Given the description of an element on the screen output the (x, y) to click on. 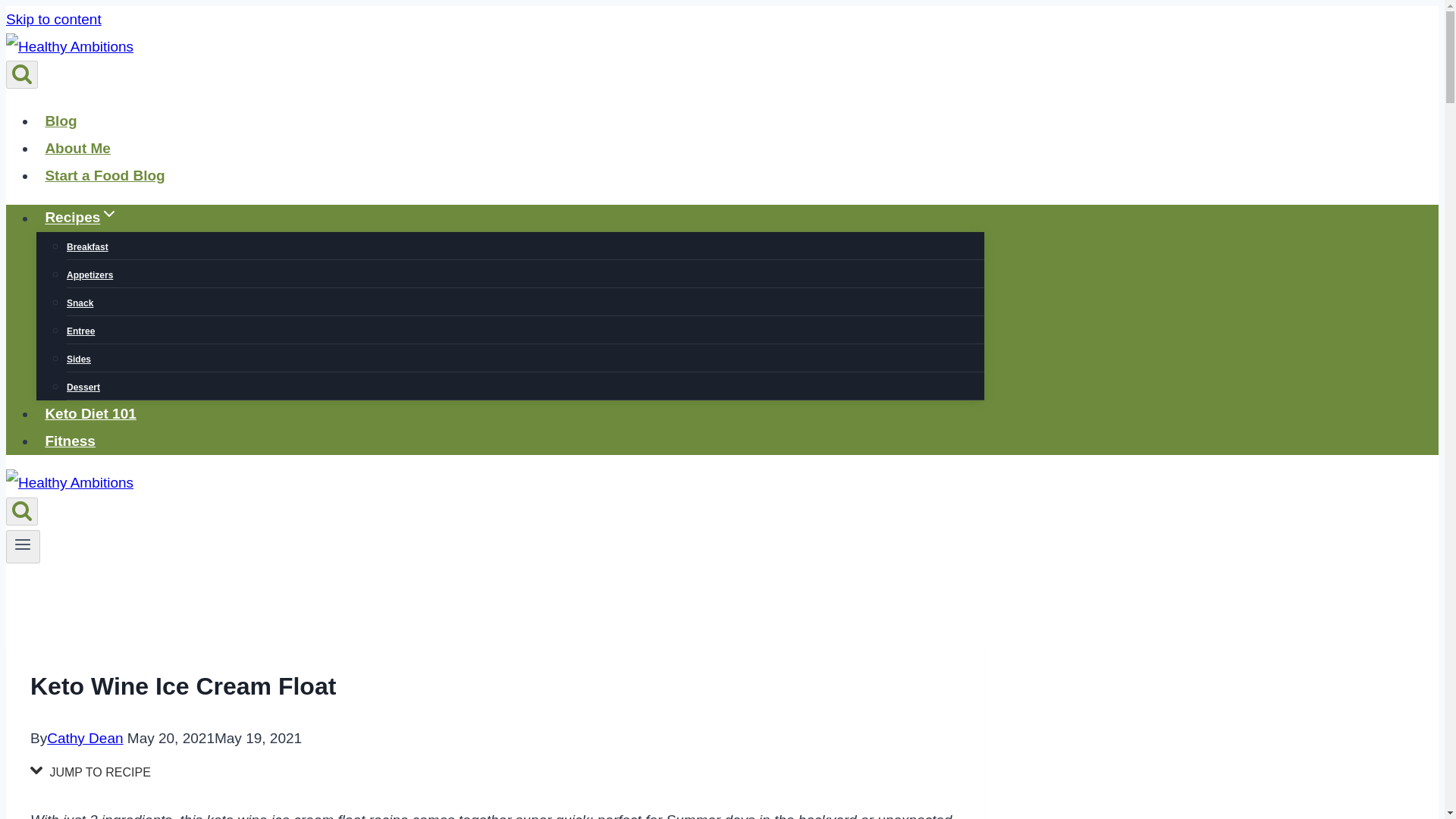
Appetizers (89, 275)
Skip to content (53, 19)
Dessert (83, 387)
Search (21, 511)
Fitness (69, 441)
RecipesExpand (82, 217)
Snack (79, 303)
Keto Diet 101 (90, 413)
Toggle Menu (22, 546)
Sides (78, 358)
JUMP TO RECIPE (94, 771)
Entree (80, 330)
Cathy Dean (84, 738)
Breakfast (86, 246)
Search (21, 74)
